Given the description of an element on the screen output the (x, y) to click on. 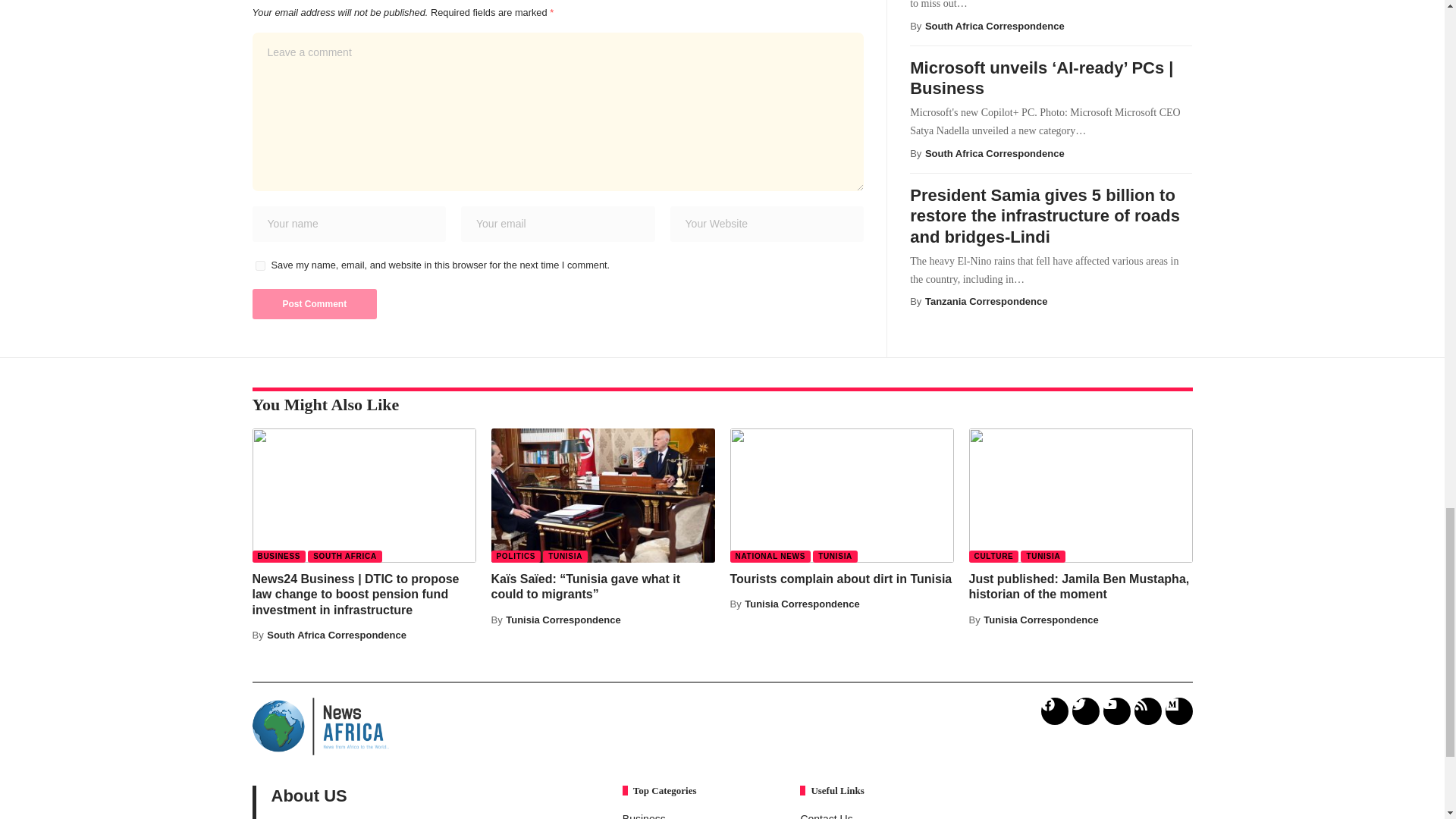
Just published: Jamila Ben Mustapha, historian of the moment (1080, 495)
Post Comment (314, 304)
yes (259, 266)
Tourists complain about dirt in Tunisia (841, 495)
